Given the description of an element on the screen output the (x, y) to click on. 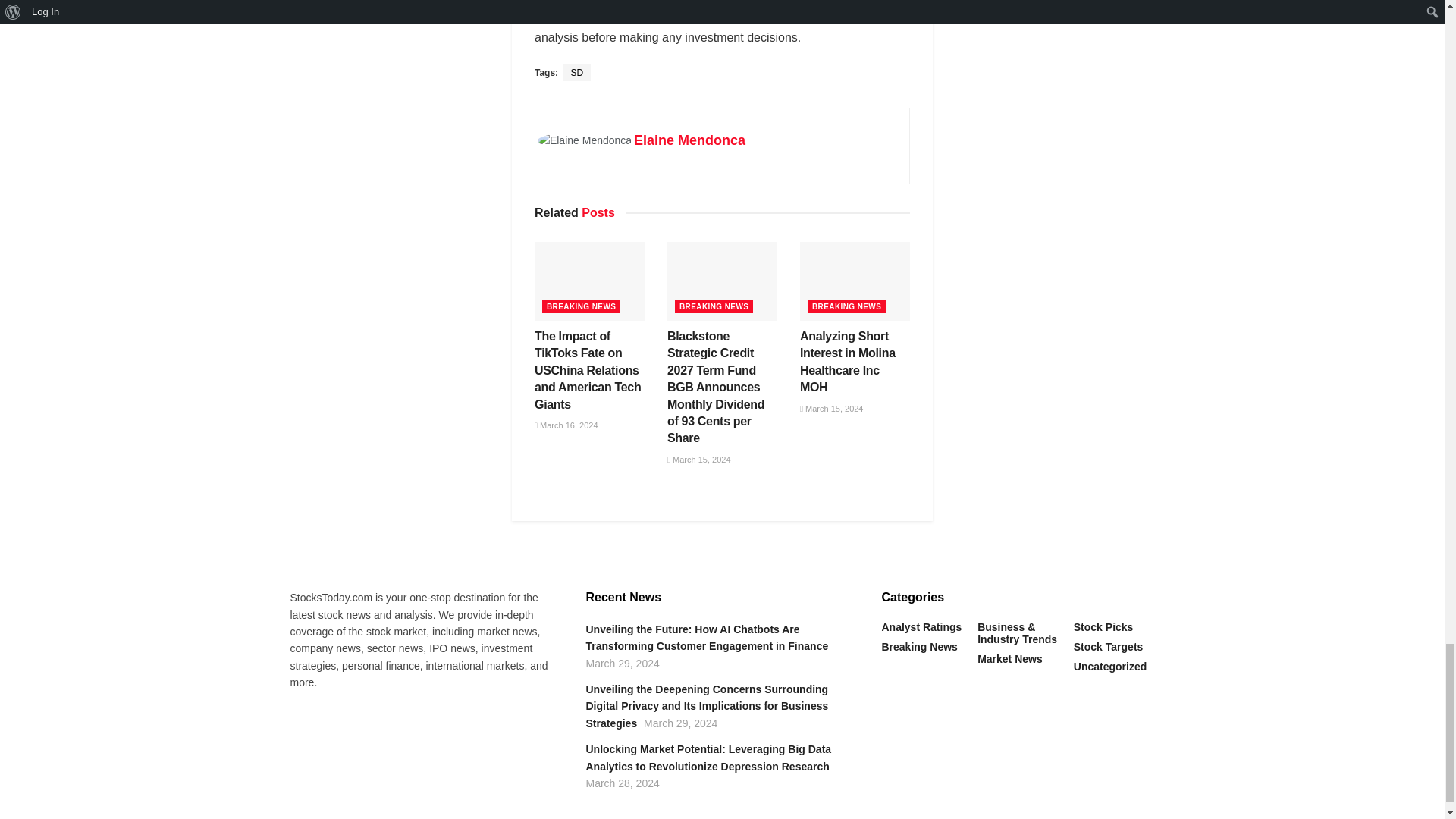
BREAKING NEWS (580, 306)
Elaine Mendonca (689, 140)
SD (576, 72)
